Given the description of an element on the screen output the (x, y) to click on. 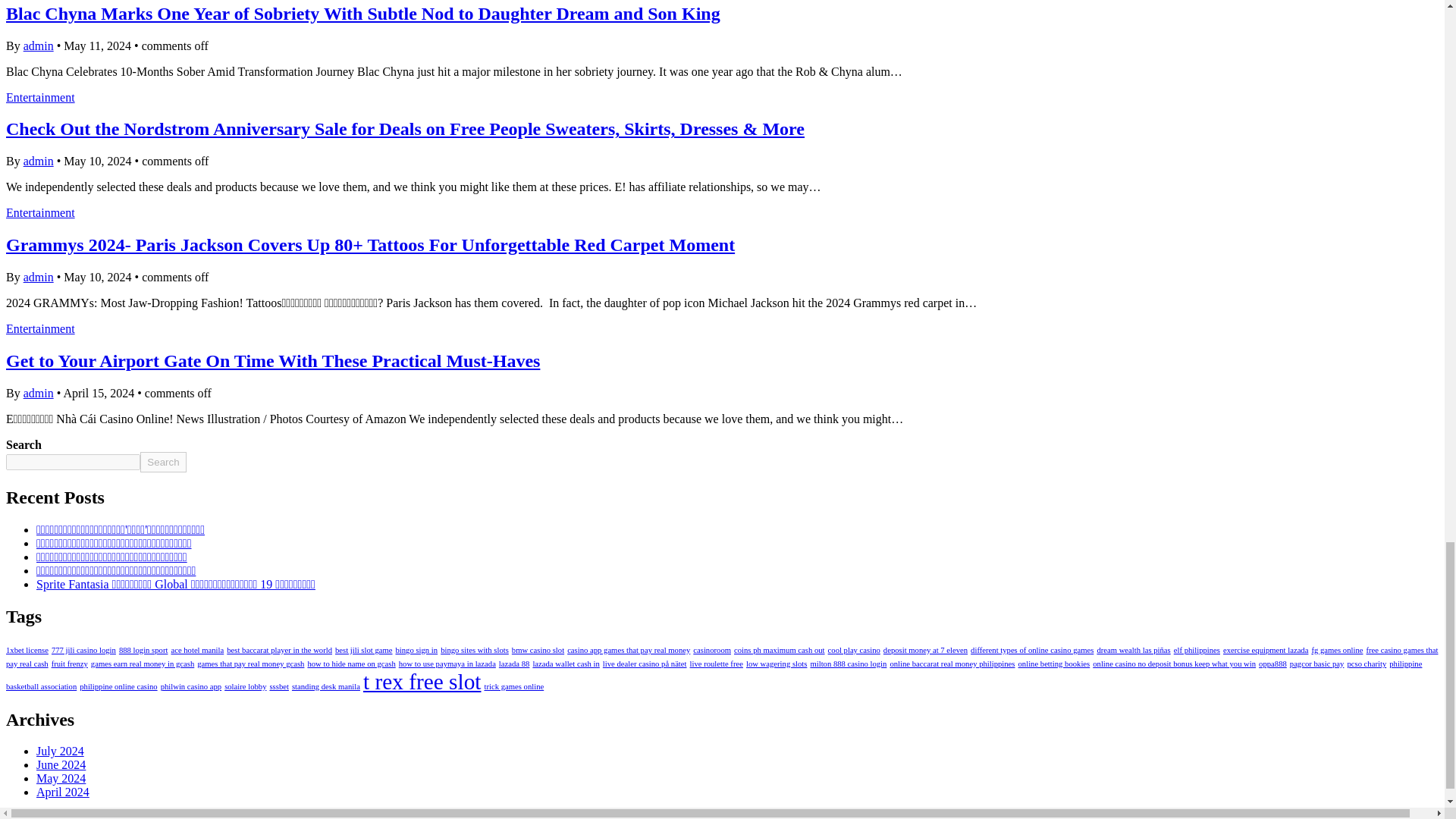
Posts by admin (38, 392)
admin (38, 45)
Posts by admin (38, 160)
Posts by admin (38, 45)
Entertainment (40, 97)
Posts by admin (38, 277)
